Given the description of an element on the screen output the (x, y) to click on. 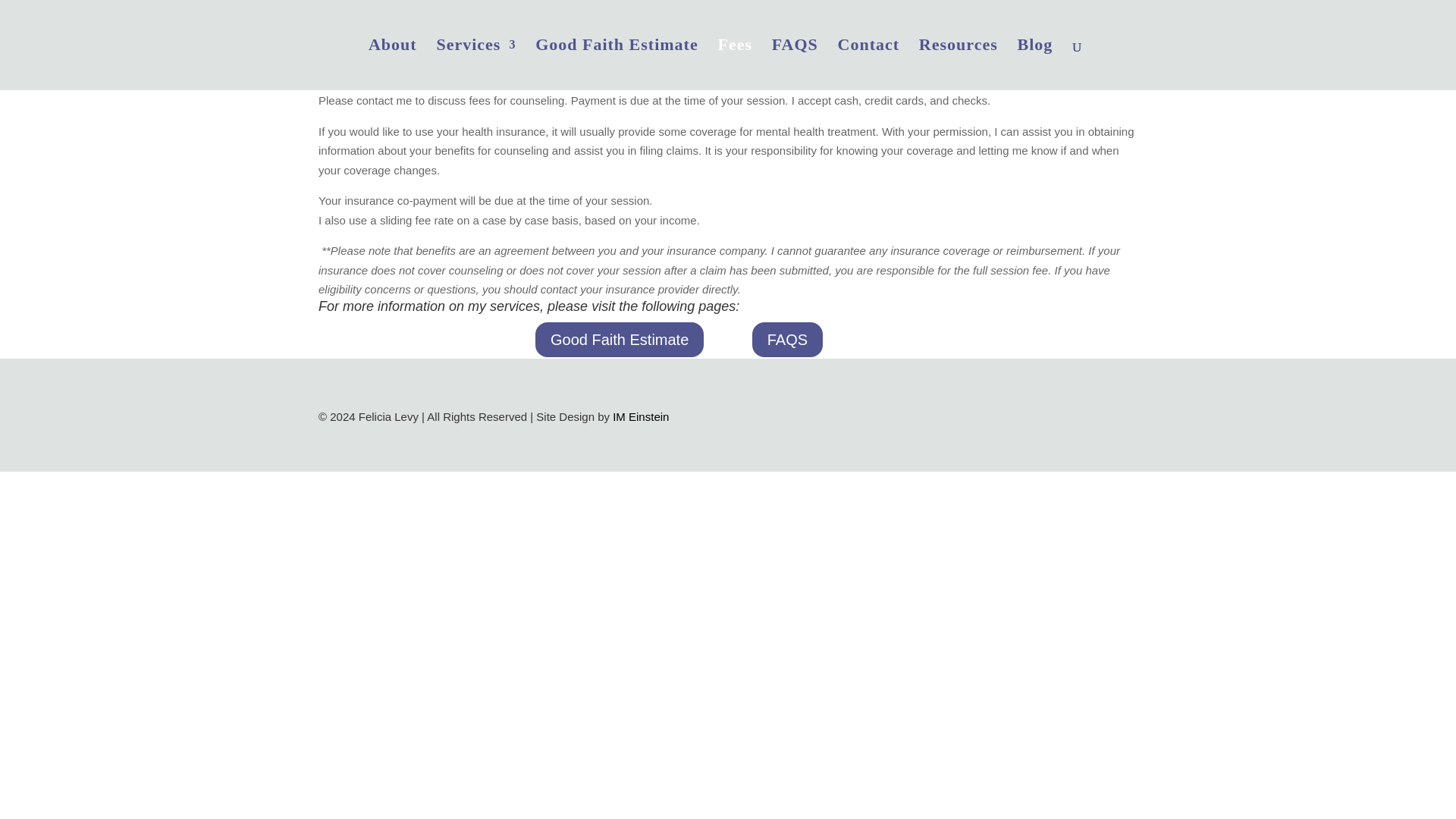
Resources (957, 64)
Contact (868, 64)
About (392, 64)
FAQS (794, 64)
Services (475, 64)
Good Faith Estimate (619, 338)
FAQS (787, 338)
IM Einstein (640, 416)
Good Faith Estimate (616, 64)
